Given the description of an element on the screen output the (x, y) to click on. 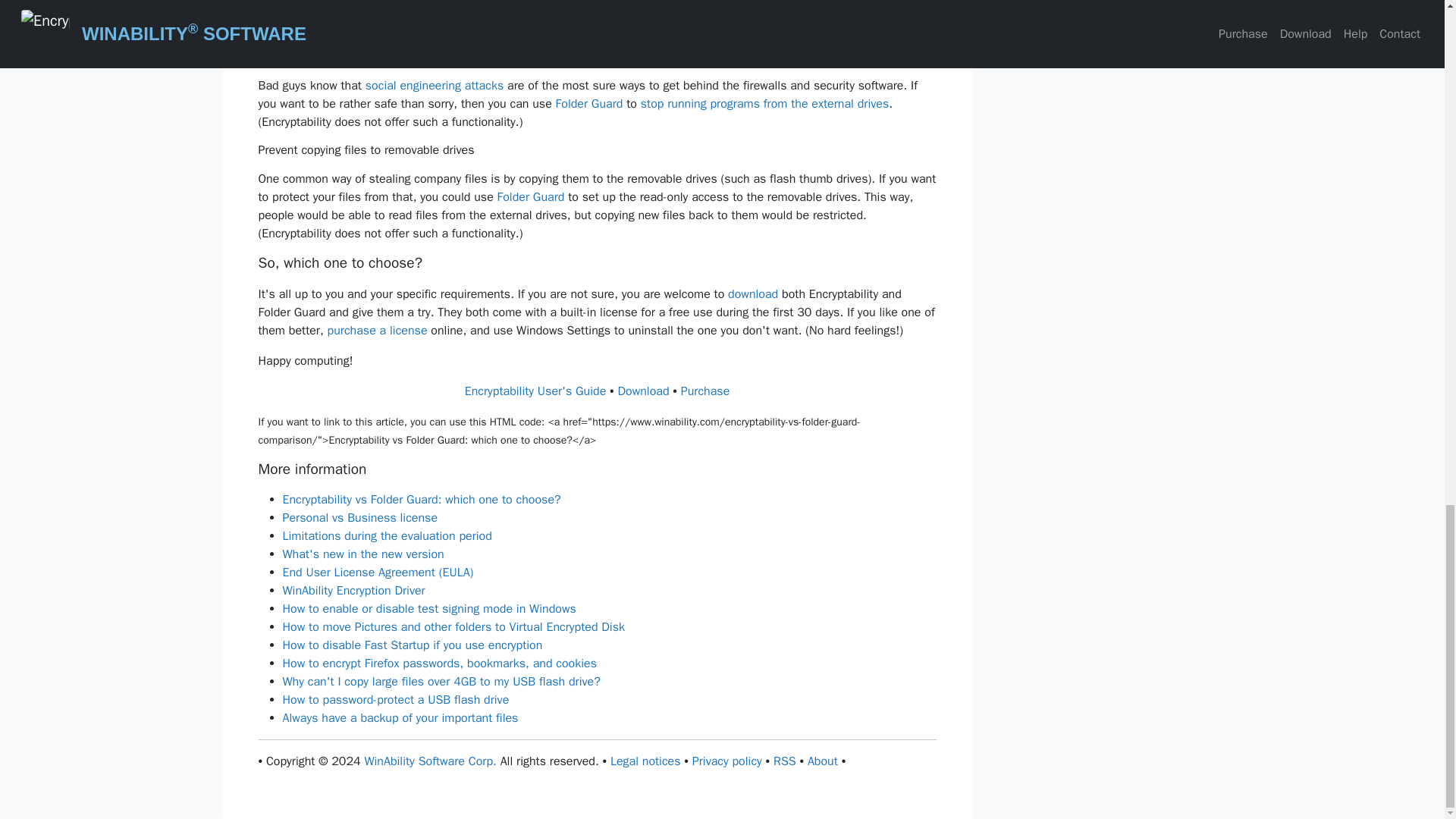
Personal vs Business license (360, 517)
WinAbility Encryption Driver (353, 590)
Download Encryptability (642, 391)
Encryptability vs Folder Guard: which one to choose? (421, 499)
How to disable Fast Startup if you use encryption (411, 645)
Encryptability User's Guide (535, 391)
Buy Encryptability Now! (705, 391)
How to password-protect a USB flash drive (395, 699)
Encryptability vs Folder Guard: which one to choose? (421, 499)
